Given the description of an element on the screen output the (x, y) to click on. 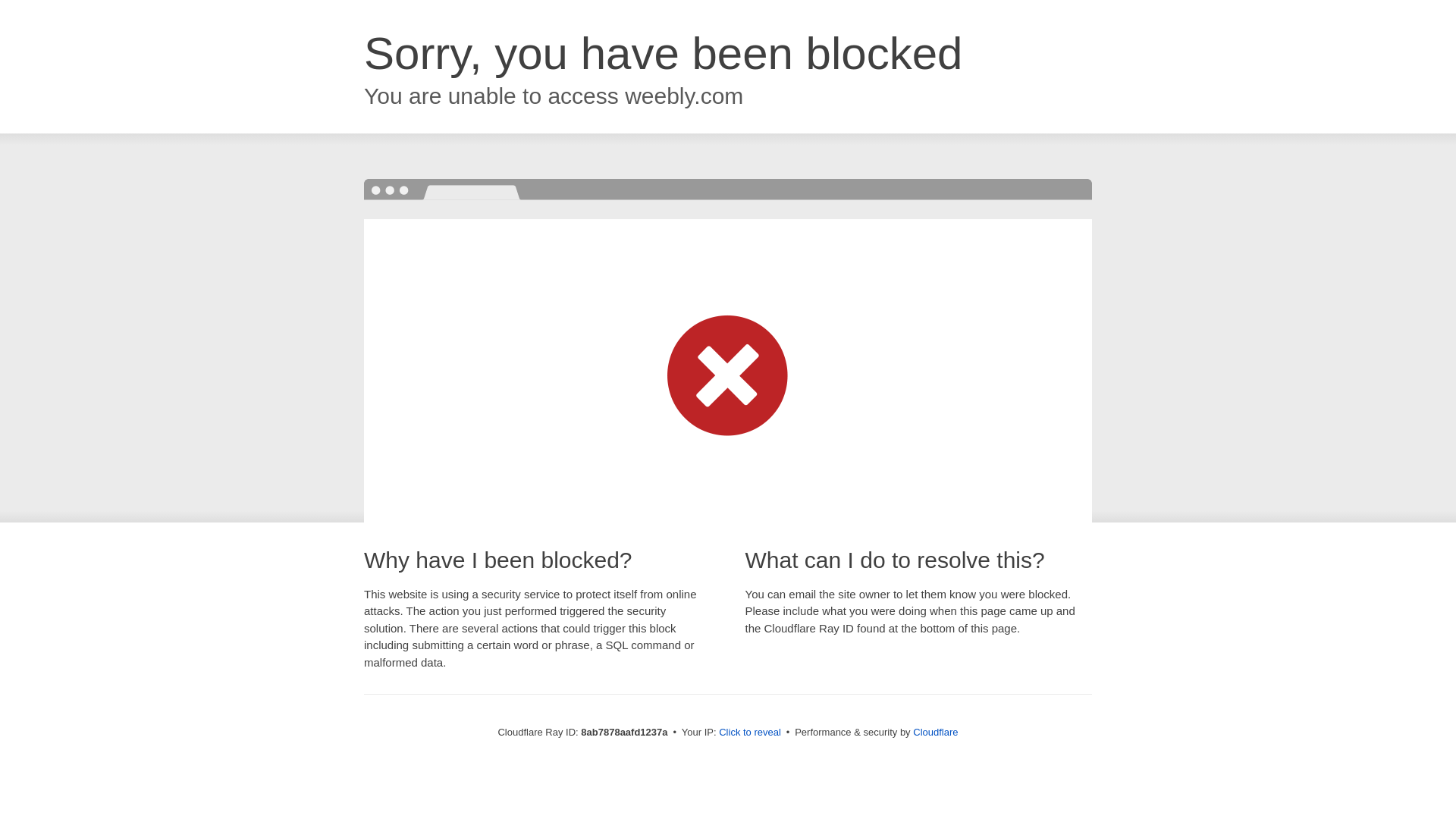
Click to reveal (749, 732)
Cloudflare (935, 731)
